Given the description of an element on the screen output the (x, y) to click on. 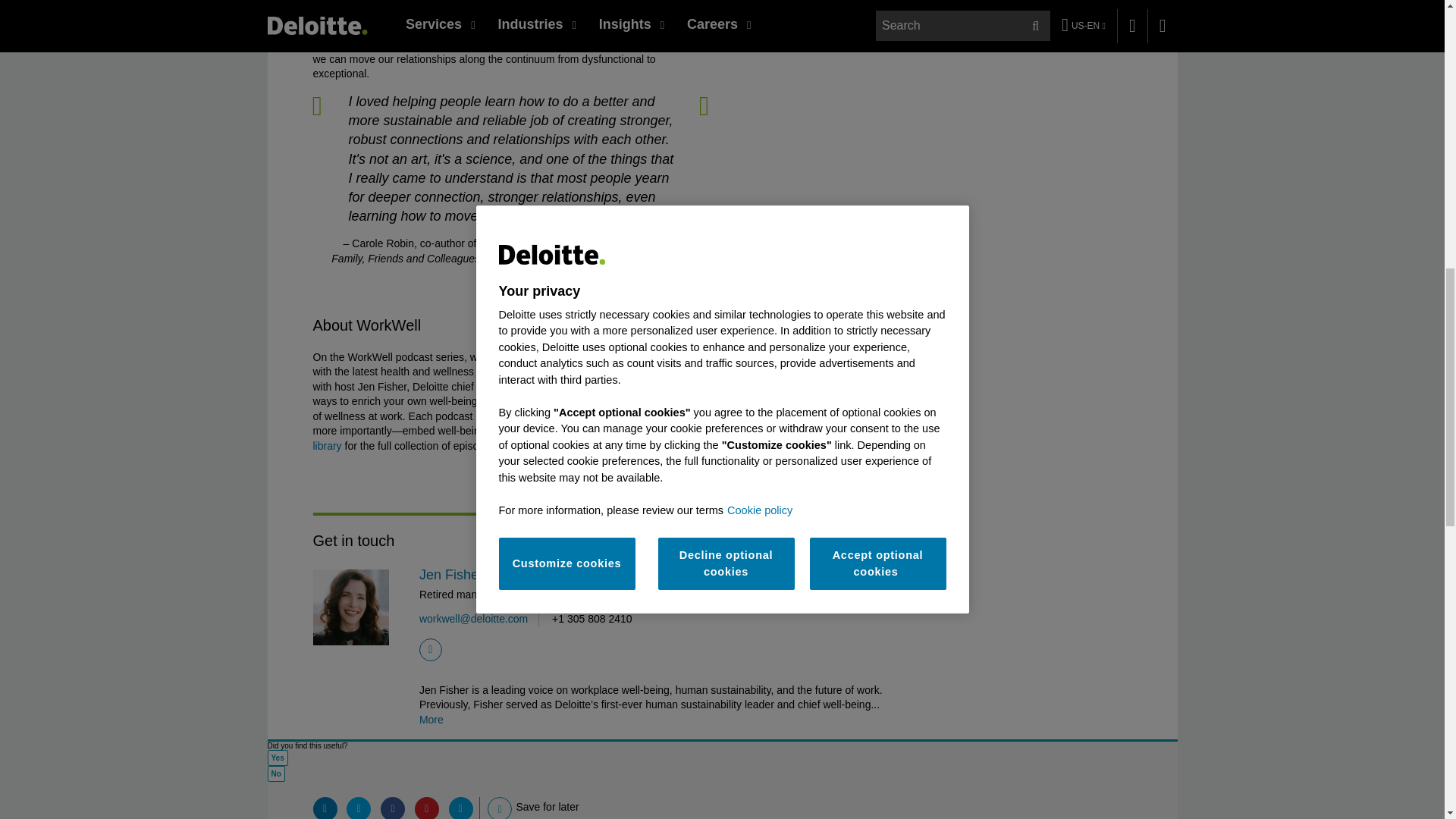
Share on Twitter (358, 807)
Save for later (499, 808)
Share via email (460, 807)
Pin on Pinterest (426, 807)
Share on LinkedIn (324, 807)
Share on Facebook (392, 807)
LinkedIn (430, 649)
